Given the description of an element on the screen output the (x, y) to click on. 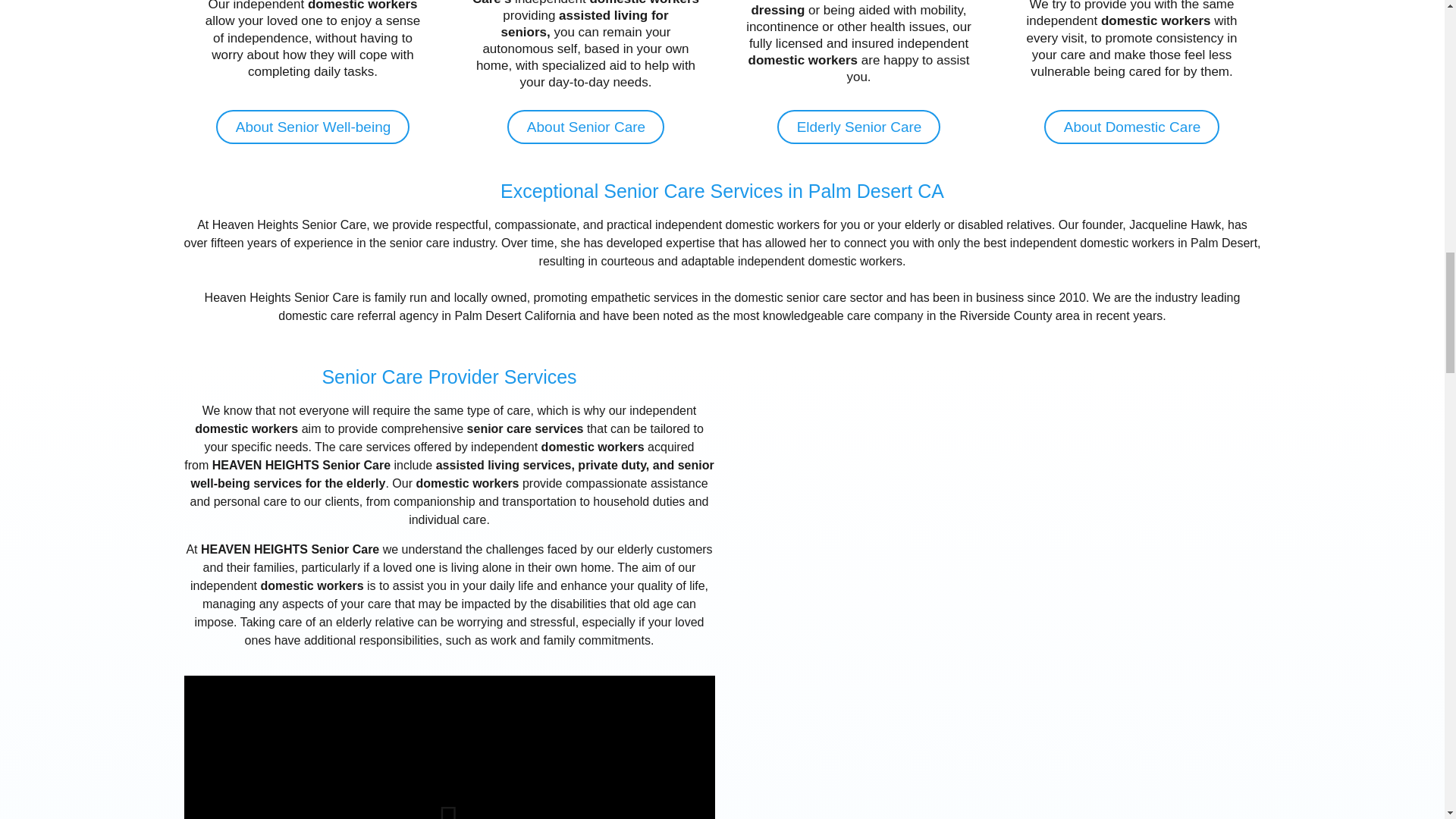
About Senior Well-being (312, 126)
About Senior Care (584, 126)
